Given the description of an element on the screen output the (x, y) to click on. 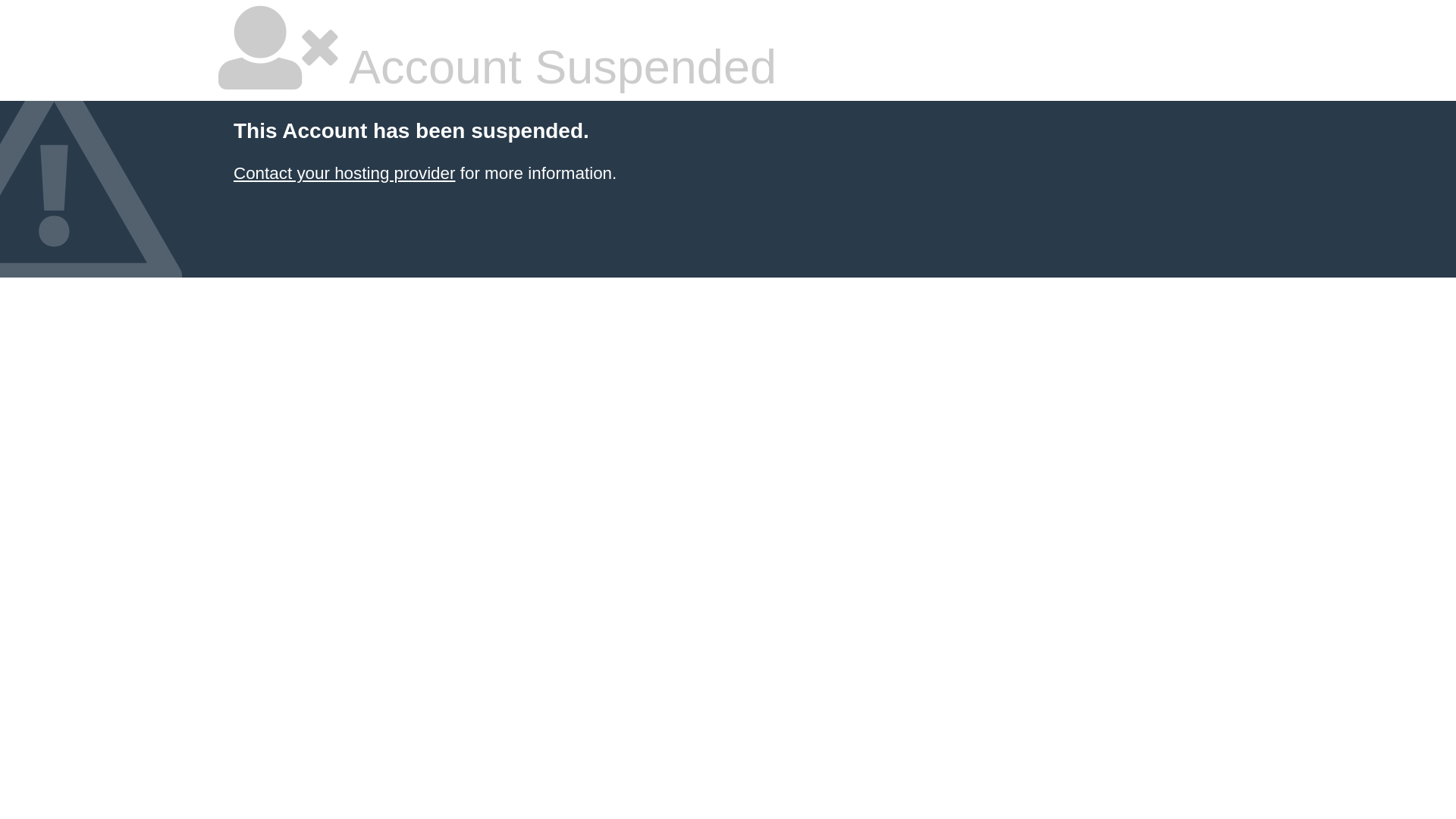
Contact your hosting provider Element type: text (344, 172)
